Given the description of an element on the screen output the (x, y) to click on. 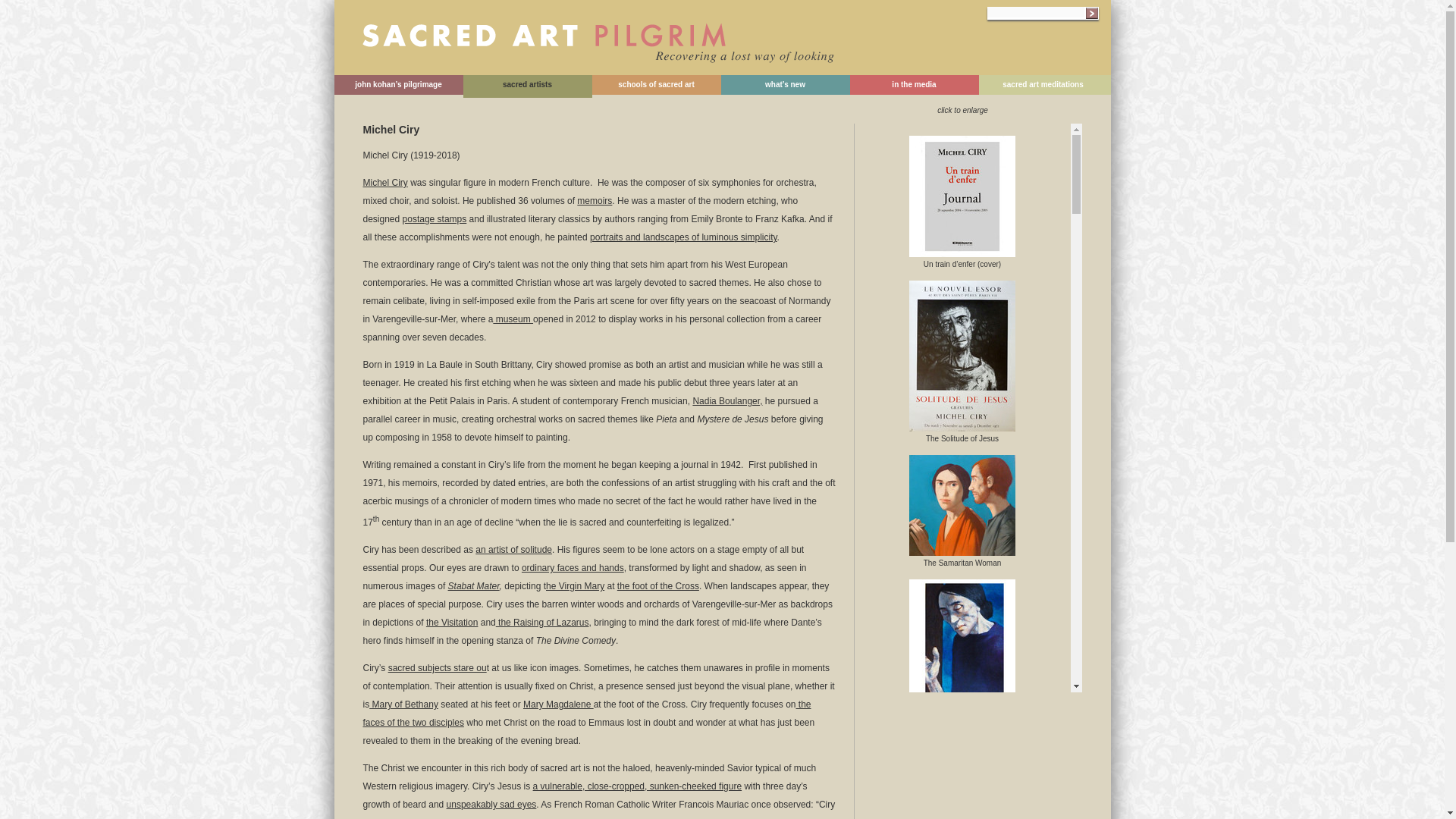
he Virgin Mary (575, 585)
The Samaritan Woman (961, 551)
ordinary faces and hands (572, 567)
Stabat Mater I (961, 770)
Mary of Bethany (403, 704)
Stabat Mater (473, 585)
the Raising of Lazarus (542, 622)
the faces of the two disciples (586, 713)
memoirs (593, 200)
postage stamps (435, 218)
portraits and landscapes of luminous simplicity (683, 236)
unspeakably sad eyes (491, 804)
The Samaritan Woman (961, 505)
Mary Magdalene (558, 704)
museum (512, 318)
